Given the description of an element on the screen output the (x, y) to click on. 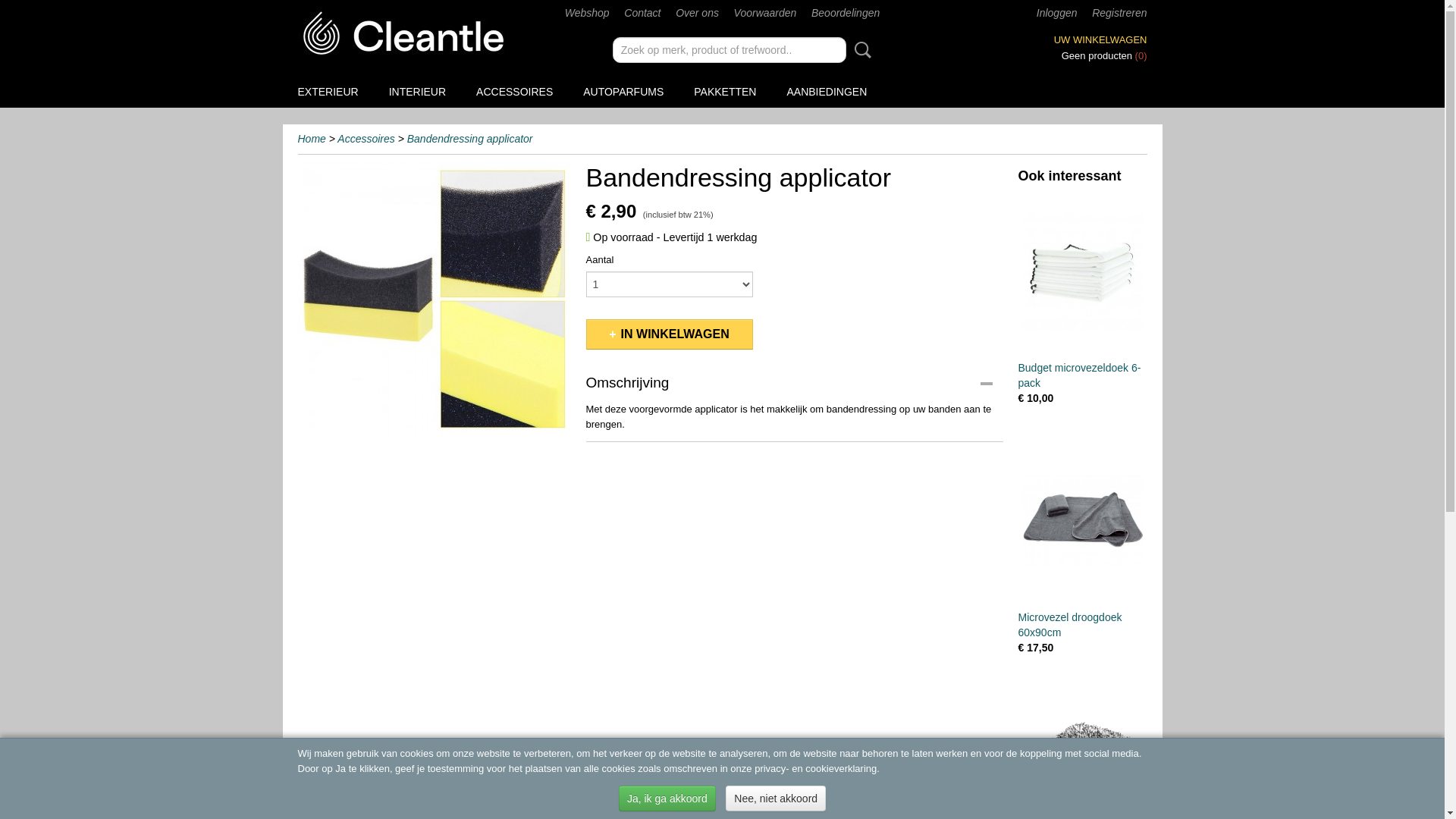
Contact Element type: text (642, 12)
ACCESSOIRES Element type: text (514, 91)
Over ons Element type: text (696, 12)
Inloggen Element type: text (1056, 12)
IN WINKELWAGEN Element type: text (668, 334)
Home Element type: text (311, 138)
Ja, ik ga akkoord Element type: text (666, 798)
Zoeken Element type: text (859, 49)
EXTERIEUR Element type: text (327, 91)
INTERIEUR Element type: text (417, 91)
AANBIEDINGEN Element type: text (826, 91)
Nee, niet akkoord Element type: text (775, 798)
Accessoires Element type: text (365, 138)
Bandendressing applicator Element type: text (470, 138)
Htb1nrxtpkpok1rjszkbq6x1ixxa7 Element type: hover (433, 298)
Budget microvezeldoek 6-pack Element type: text (1078, 375)
PAKKETTEN Element type: text (724, 91)
AUTOPARFUMS Element type: text (622, 91)
Beoordelingen Element type: text (845, 12)
Microvezel droogdoek 60x90cm Element type: hover (1082, 520)
Microvezel droogdoek 60x90cm Element type: text (1069, 624)
UW WINKELWAGEN Element type: text (1100, 39)
Voorwaarden Element type: text (765, 12)
Registreren Element type: text (1119, 12)
Webshop Element type: text (586, 12)
Budget microvezeldoek 6-pack Element type: hover (1082, 270)
